Given the description of an element on the screen output the (x, y) to click on. 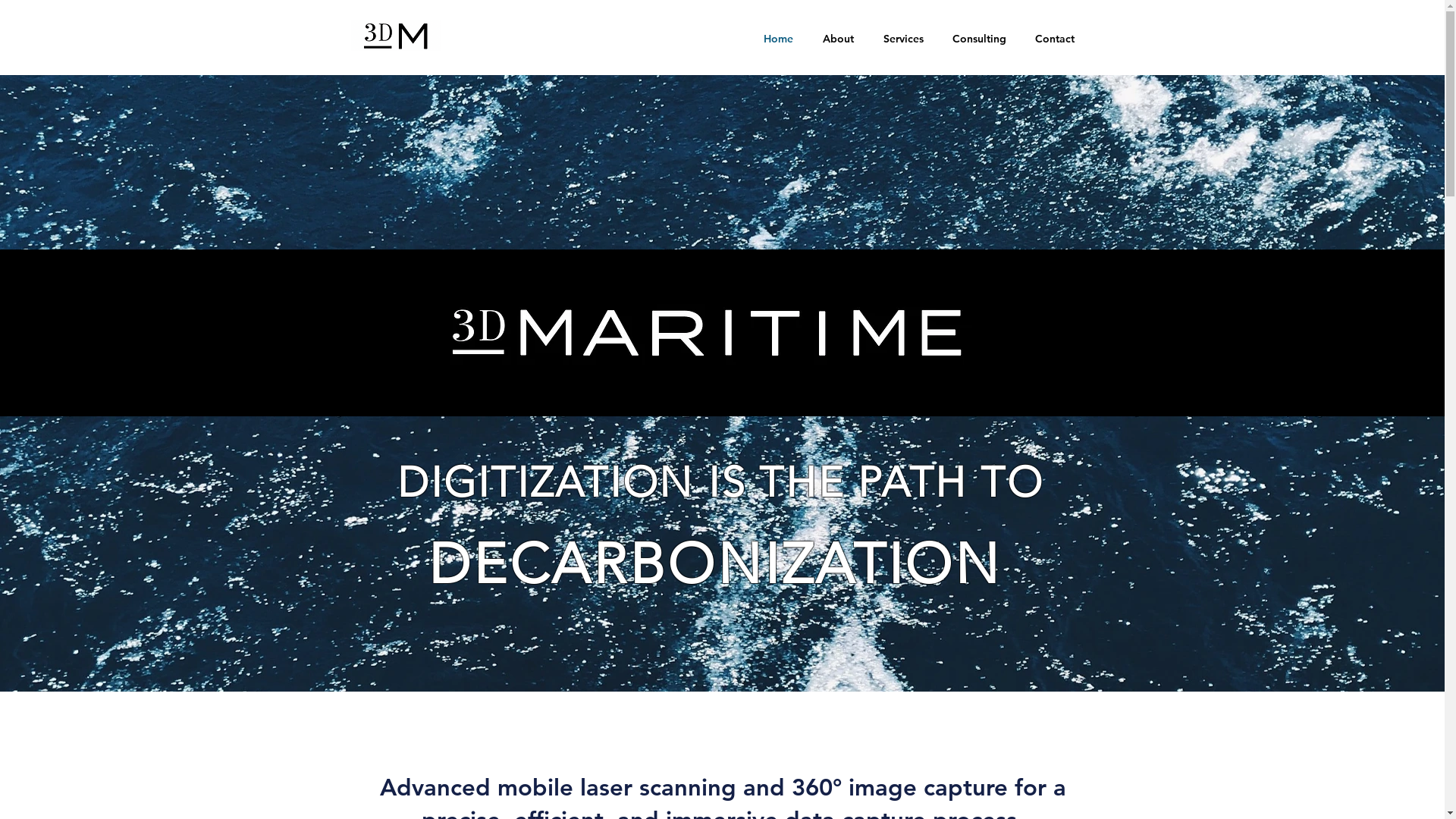
Home Element type: text (778, 38)
About Element type: text (838, 38)
Services Element type: text (903, 38)
TWIPLA (Visitor Analytics) Element type: hover (1442, 4)
Consulting Element type: text (978, 38)
Contact Element type: text (1054, 38)
